Given the description of an element on the screen output the (x, y) to click on. 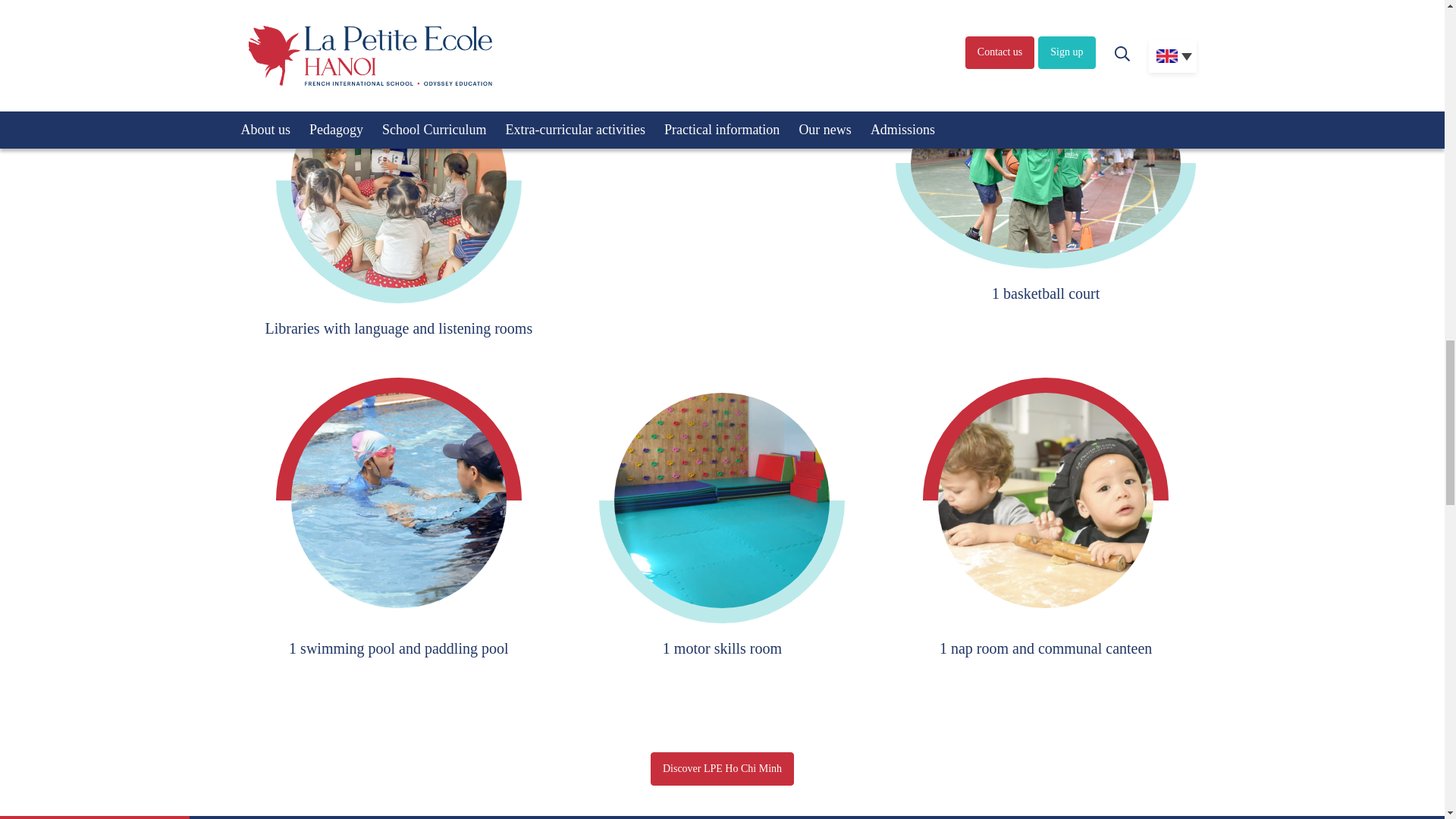
Discover LPE Ho Chi Minh (721, 768)
